Given the description of an element on the screen output the (x, y) to click on. 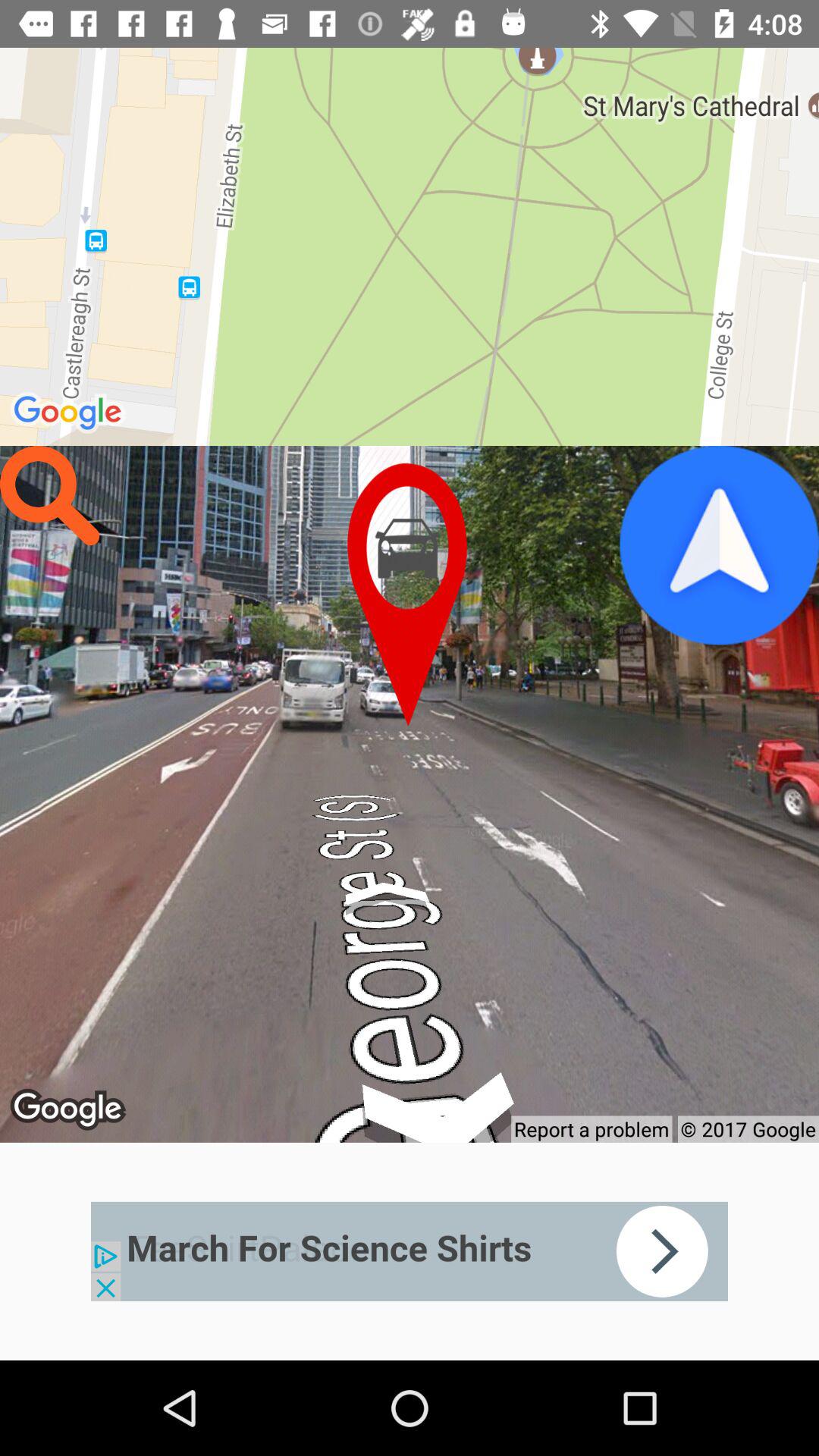
advertisement page (409, 1251)
